Given the description of an element on the screen output the (x, y) to click on. 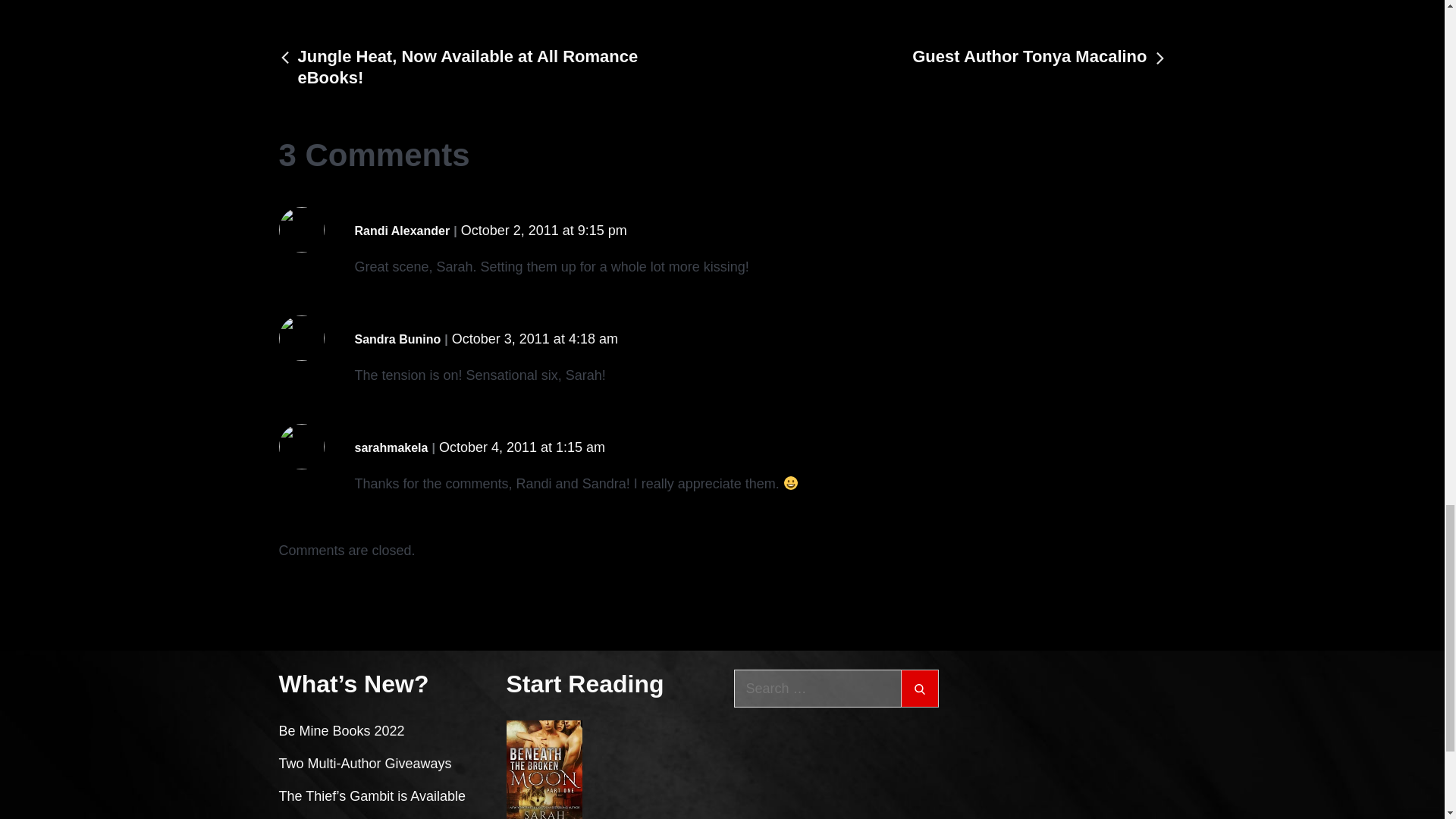
Be Mine Books 2022 (341, 730)
Two Multi-Author Giveaways (365, 763)
October 2, 2011 at 9:15 pm (544, 230)
Sandra Bunino (398, 339)
October 4, 2011 at 1:15 am (522, 447)
October 3, 2011 at 4:18 am (534, 338)
sarahmakela (391, 447)
Randi Alexander (402, 230)
